Given the description of an element on the screen output the (x, y) to click on. 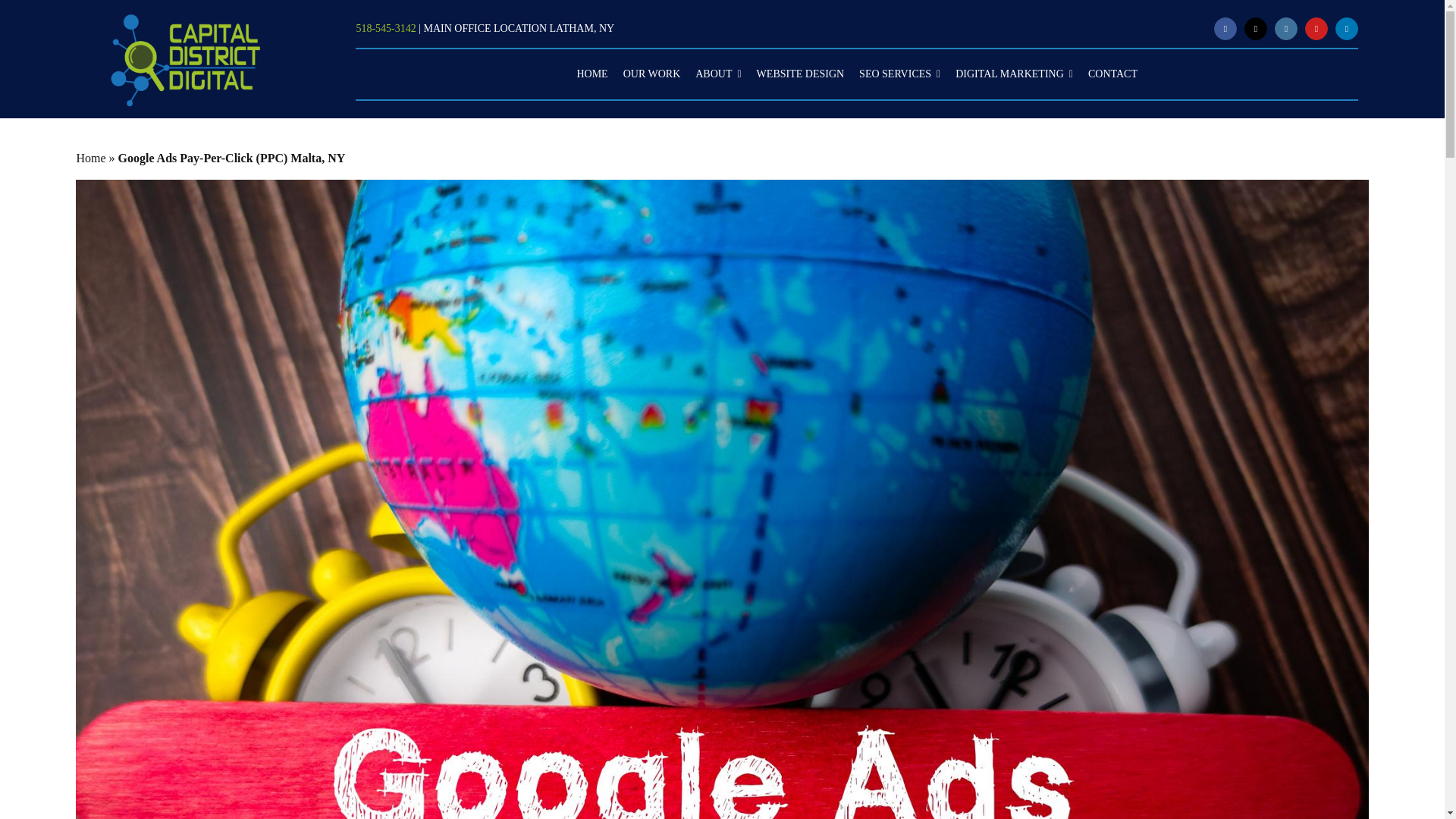
HOME (591, 74)
YouTube (1315, 28)
Instagram (1286, 28)
Facebook (1225, 28)
Discover Our Expert Responsive Website Design Services (800, 74)
Tiktok (1255, 28)
DIGITAL MARKETING (1013, 74)
ABOUT (717, 74)
SEO SERVICES (899, 74)
LinkedIn (1346, 28)
CONTACT (1112, 74)
518-545-3142 (384, 28)
Learn About Our Team and Vision (717, 74)
WEBSITE DESIGN (800, 74)
